Given the description of an element on the screen output the (x, y) to click on. 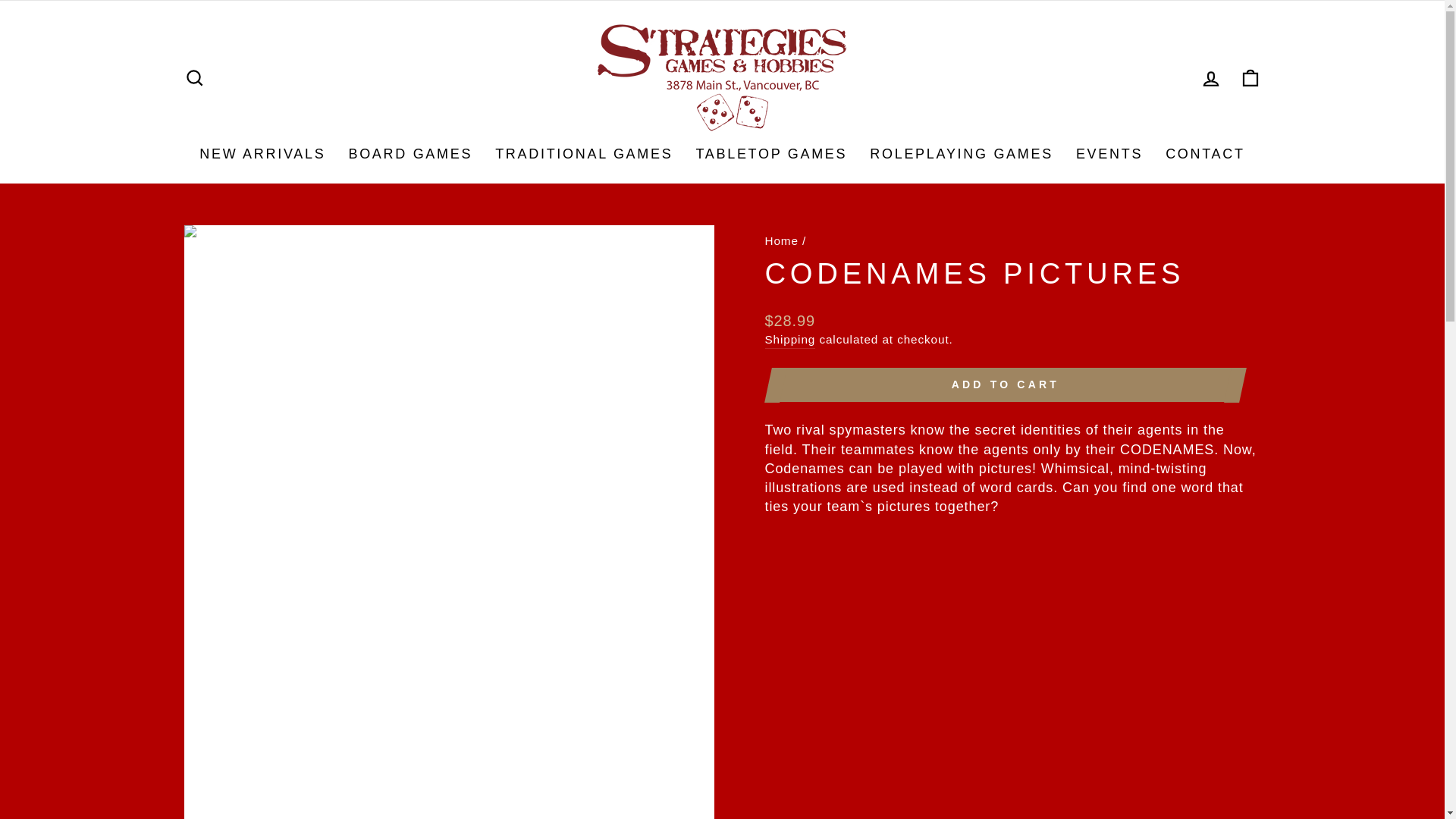
Back to the frontpage (780, 240)
CART (1249, 78)
BOARD GAMES (409, 154)
SEARCH (194, 78)
LOG IN (1210, 78)
NEW ARRIVALS (261, 154)
